Given the description of an element on the screen output the (x, y) to click on. 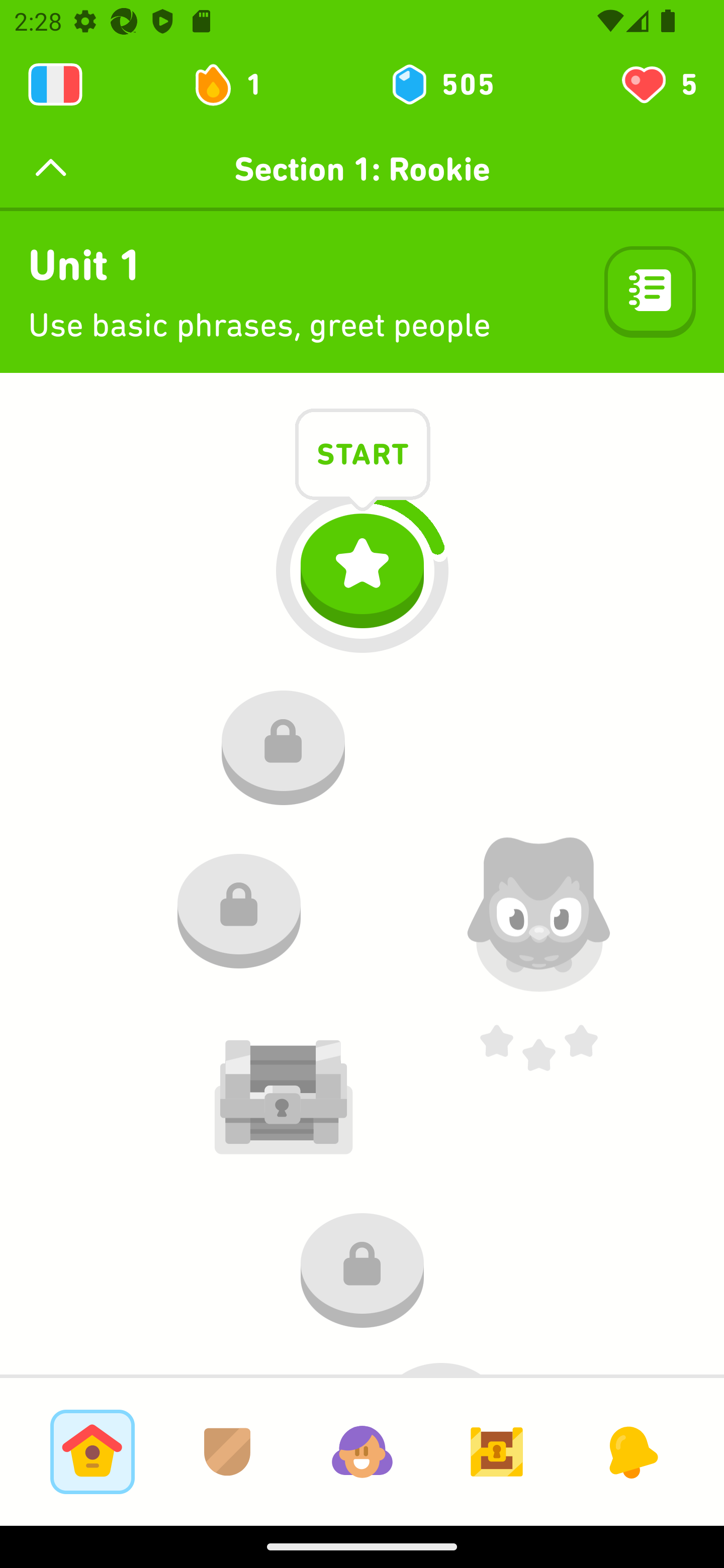
Learning 2131888976 (55, 84)
1 day streak 1 (236, 84)
505 (441, 84)
You have 5 hearts left 5 (657, 84)
Section 1: Rookie (362, 169)
START (362, 457)
Learn Tab (91, 1451)
Leagues Tab (227, 1451)
Profile Tab (361, 1451)
Goals Tab (496, 1451)
News Tab (631, 1451)
